Given the description of an element on the screen output the (x, y) to click on. 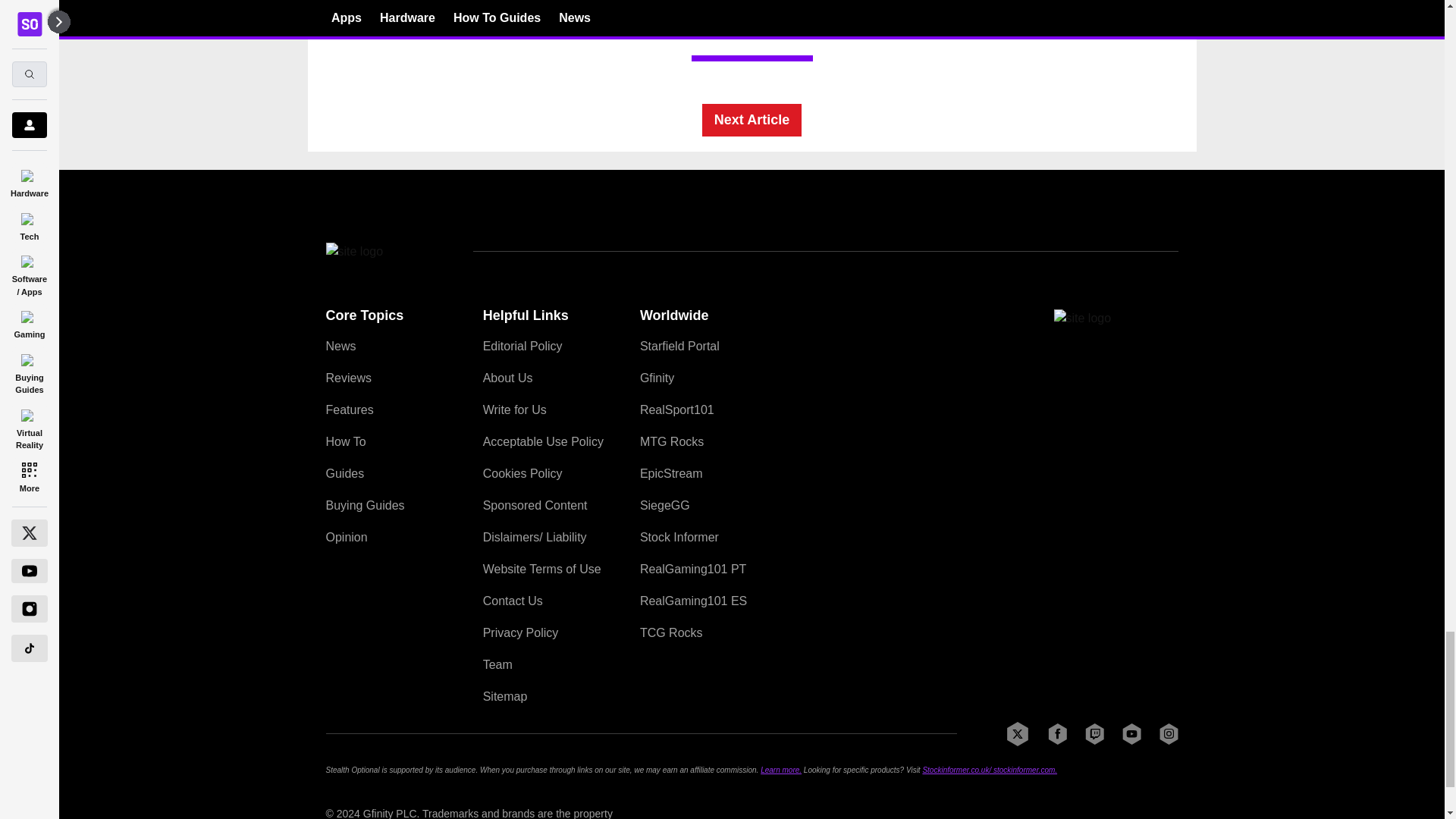
Latest News (1063, 15)
